Given the description of an element on the screen output the (x, y) to click on. 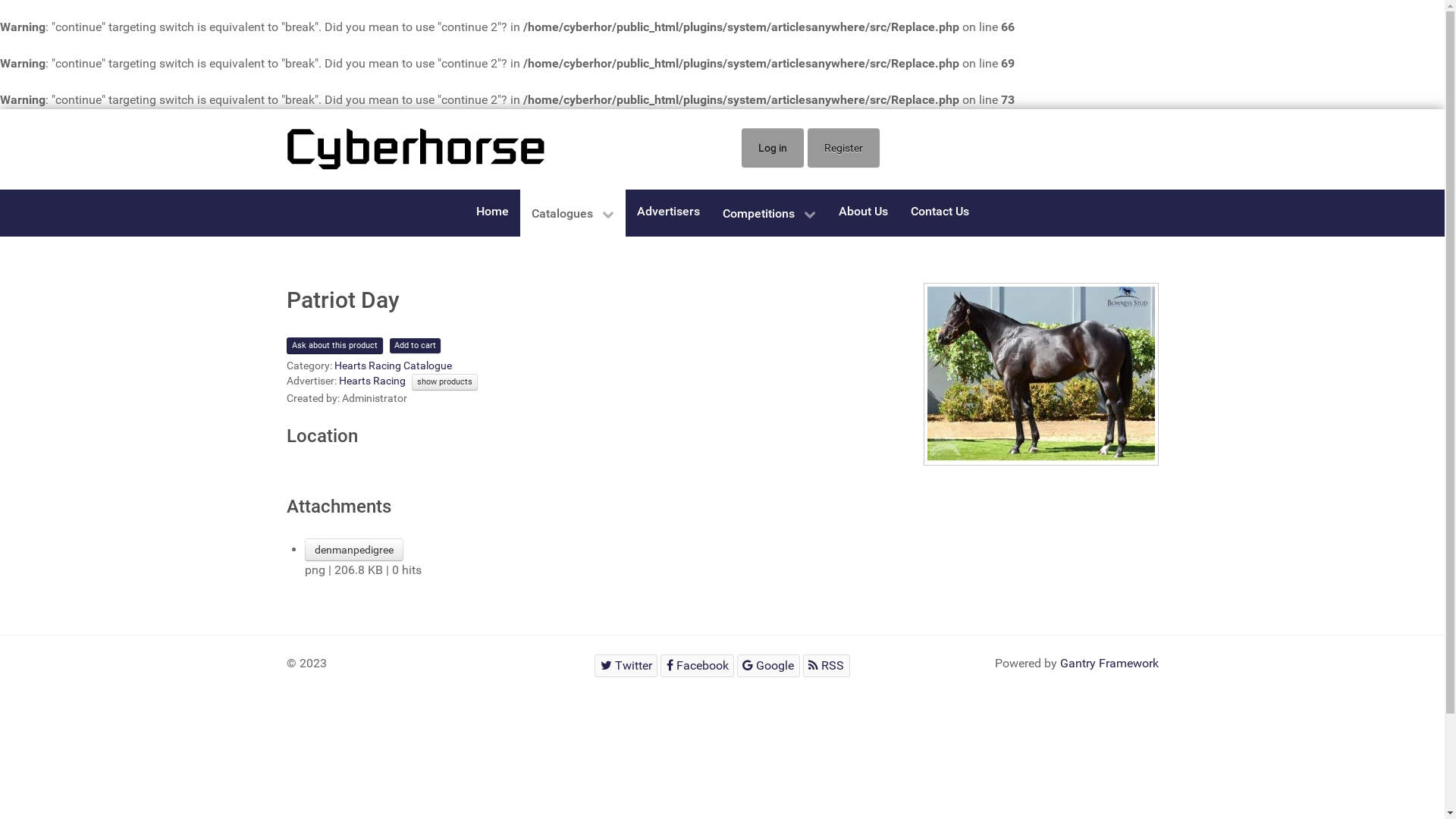
denmanpedigree Element type: text (353, 549)
Add to cart Element type: text (414, 345)
RSS Element type: text (826, 665)
Hearts Racing Element type: text (371, 380)
Gantry 5 Element type: hover (415, 148)
Register Element type: text (842, 147)
Google Element type: text (768, 665)
Facebook Element type: text (697, 665)
Home Element type: text (491, 210)
Hearts Racing Catalogue Element type: text (392, 365)
Contact Us Element type: text (939, 210)
denman Element type: hover (1040, 373)
Gantry Framework Element type: text (1109, 662)
Twitter Element type: text (625, 665)
Ask about this product Element type: text (334, 345)
show products Element type: text (443, 381)
Log in Element type: text (772, 147)
Advertisers Element type: text (667, 210)
